Given the description of an element on the screen output the (x, y) to click on. 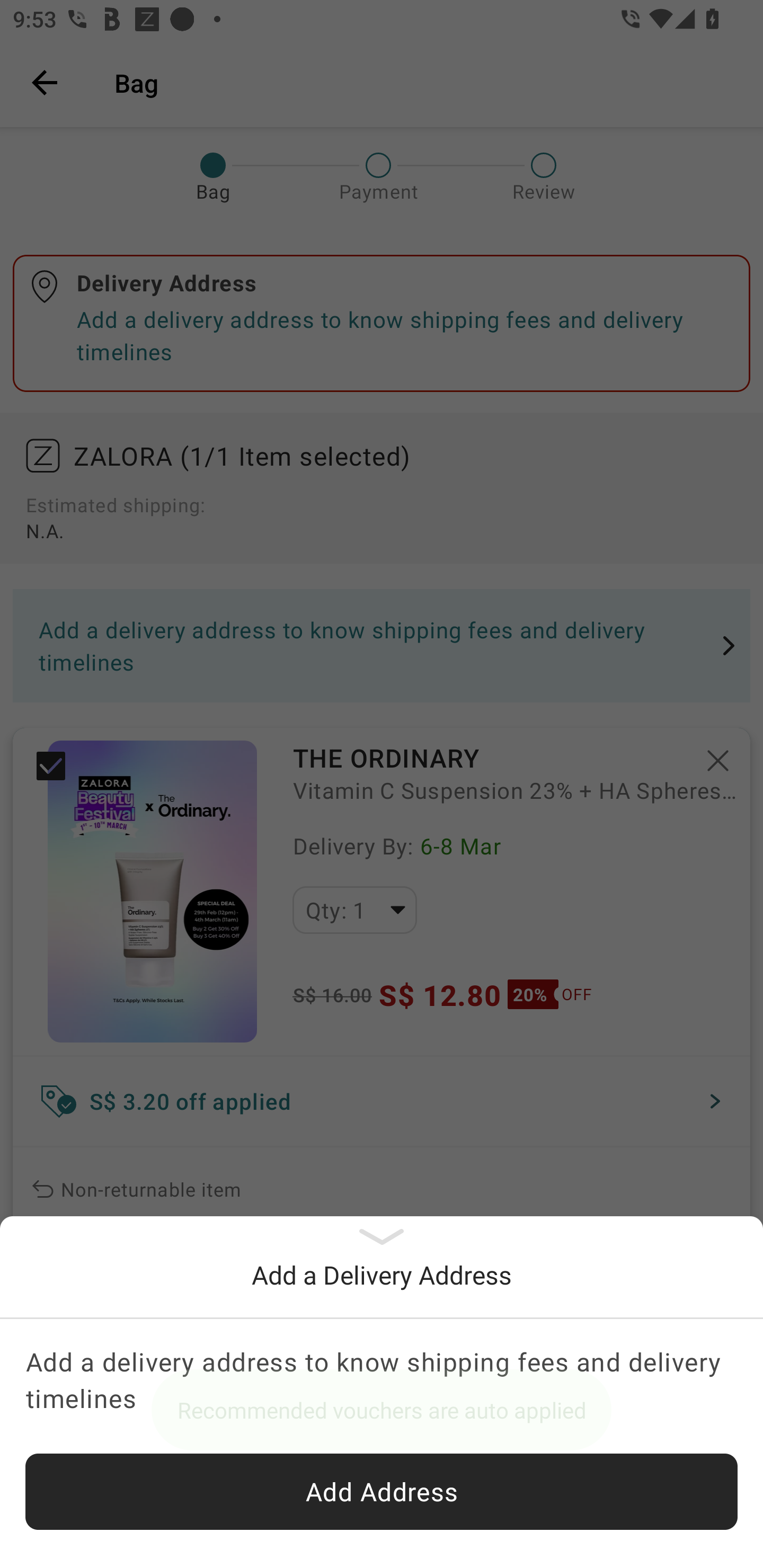
Add Address (381, 1491)
